Given the description of an element on the screen output the (x, y) to click on. 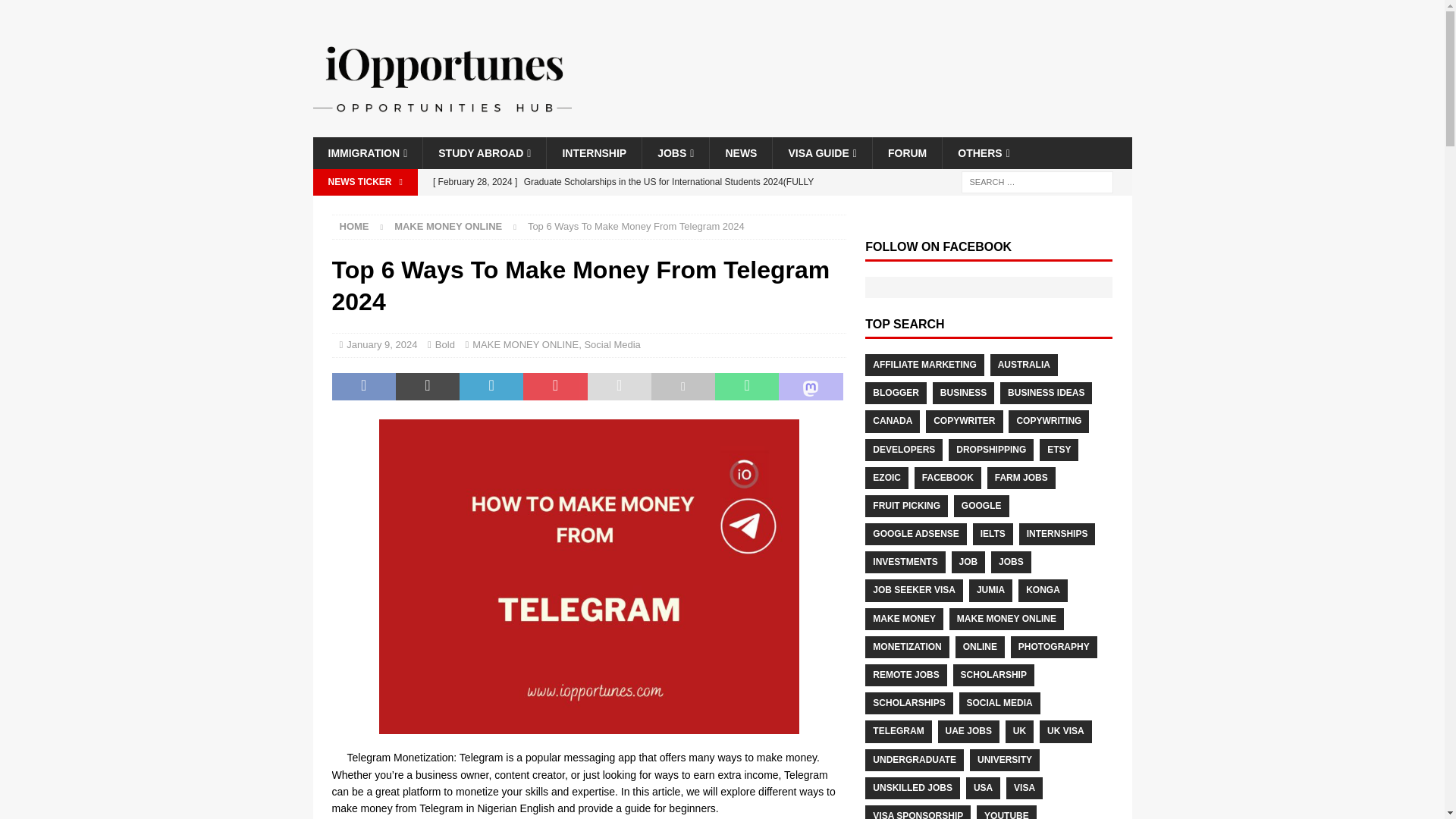
JOBS (675, 152)
Tweet This Post (428, 386)
MAKE MONEY ONLINE (448, 225)
FORUM (907, 152)
Send this article to a friend (619, 386)
Share On Mastodon (810, 386)
VISA GUIDE (821, 152)
Home (354, 225)
INTERNSHIP (594, 152)
Share on Facebook (363, 386)
